Given the description of an element on the screen output the (x, y) to click on. 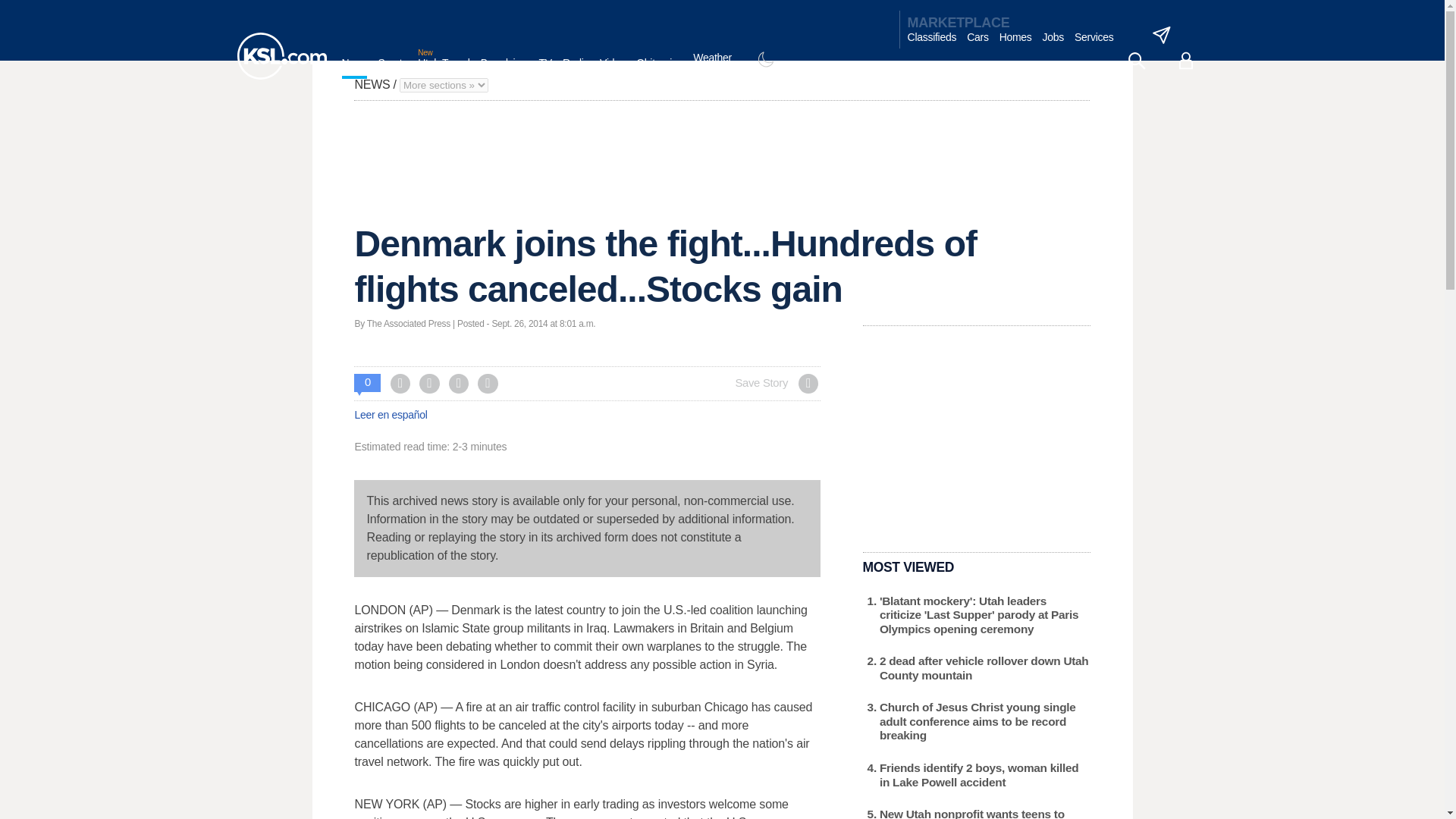
account - logged out (1185, 60)
search (1135, 60)
KSL homepage (280, 55)
